Given the description of an element on the screen output the (x, y) to click on. 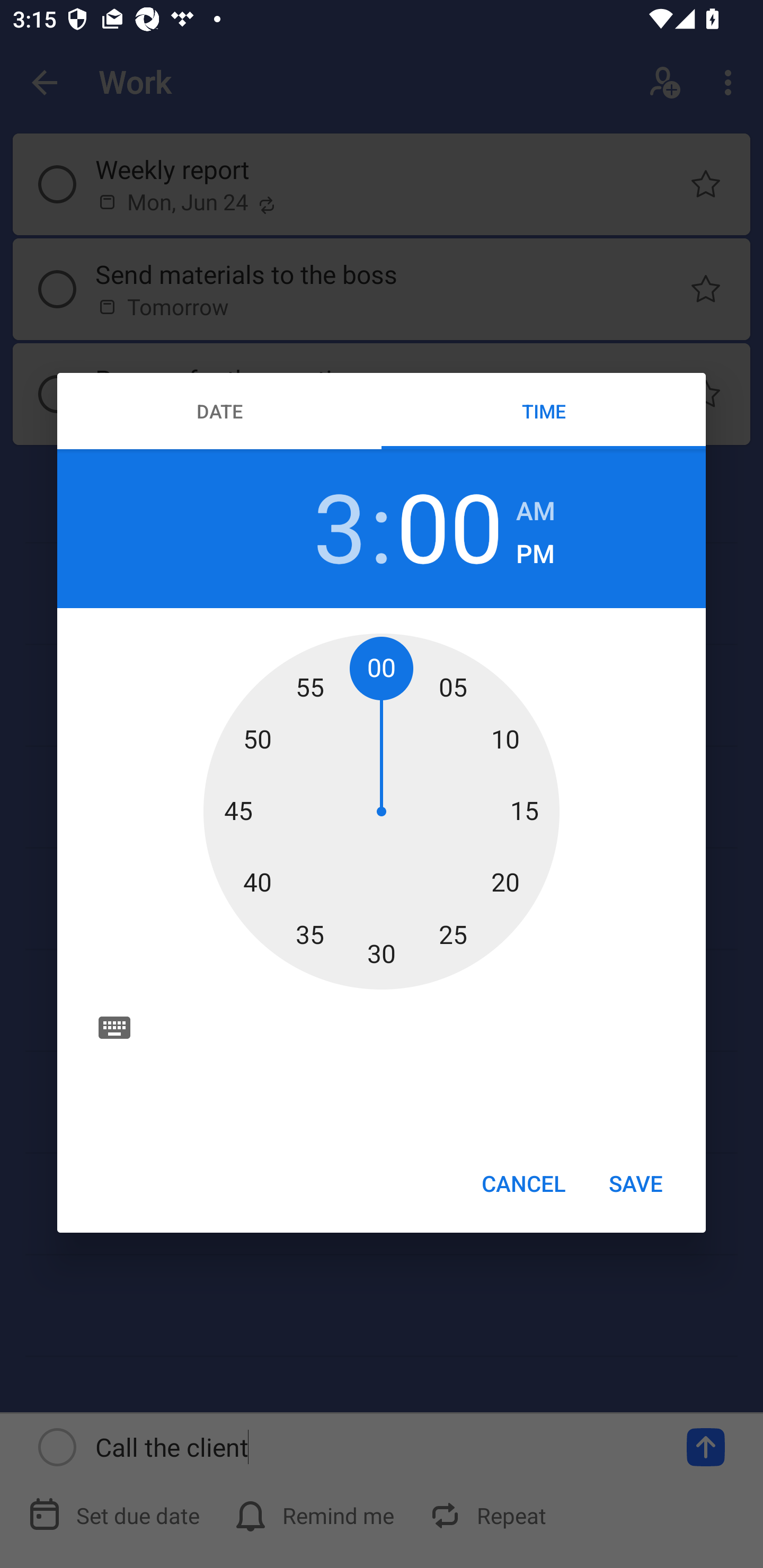
SAVE (635, 1182)
